Given the description of an element on the screen output the (x, y) to click on. 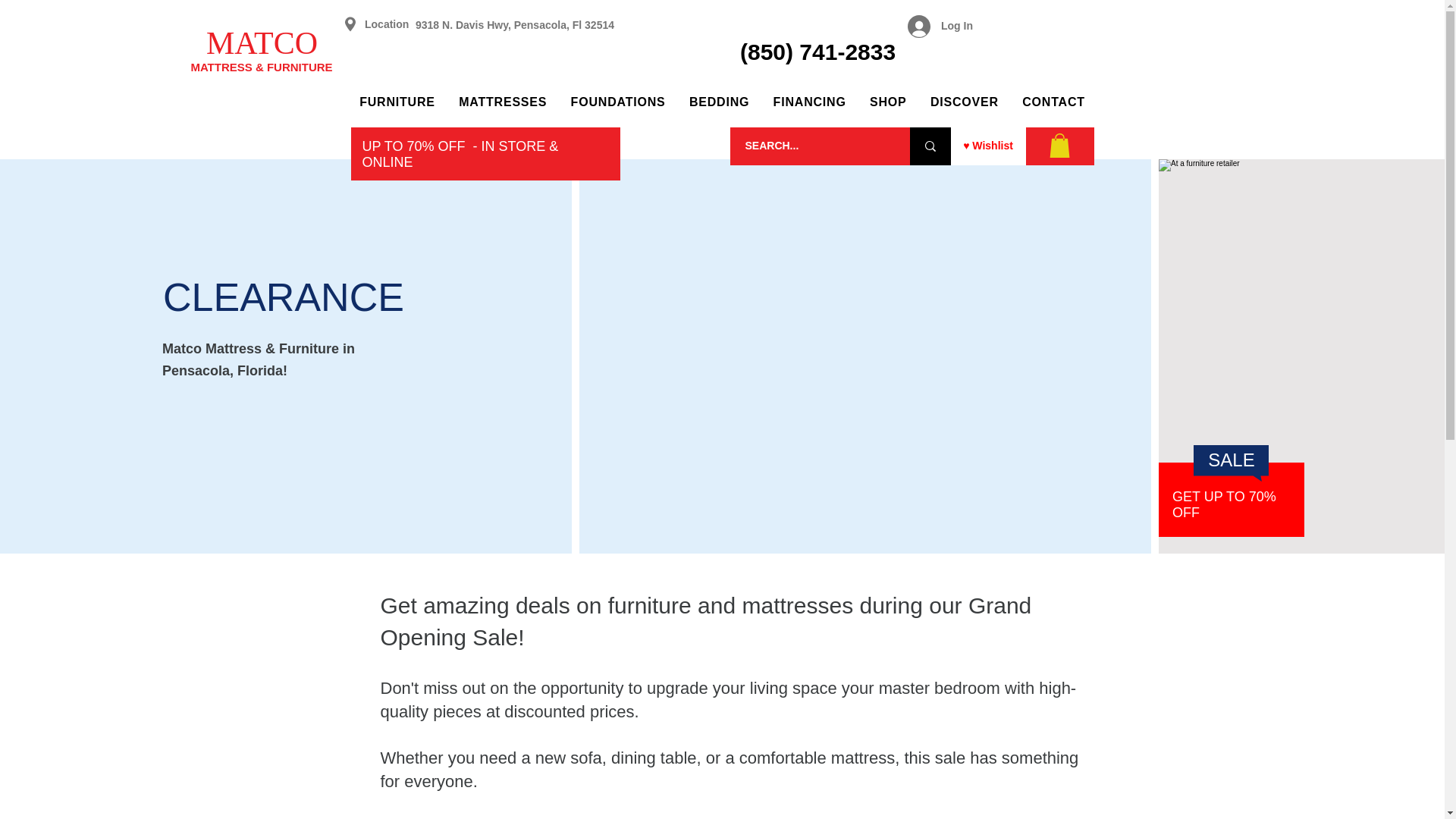
MATTRESSES (501, 102)
9318 N. Davis Hwy, Pensacola, Fl 32514 (514, 24)
SHOP (887, 102)
FOUNDATIONS (618, 102)
FINANCING (809, 102)
CONTACT (1053, 102)
Location (387, 24)
BEDDING (718, 102)
MATCO (261, 42)
Log In (940, 26)
